Given the description of an element on the screen output the (x, y) to click on. 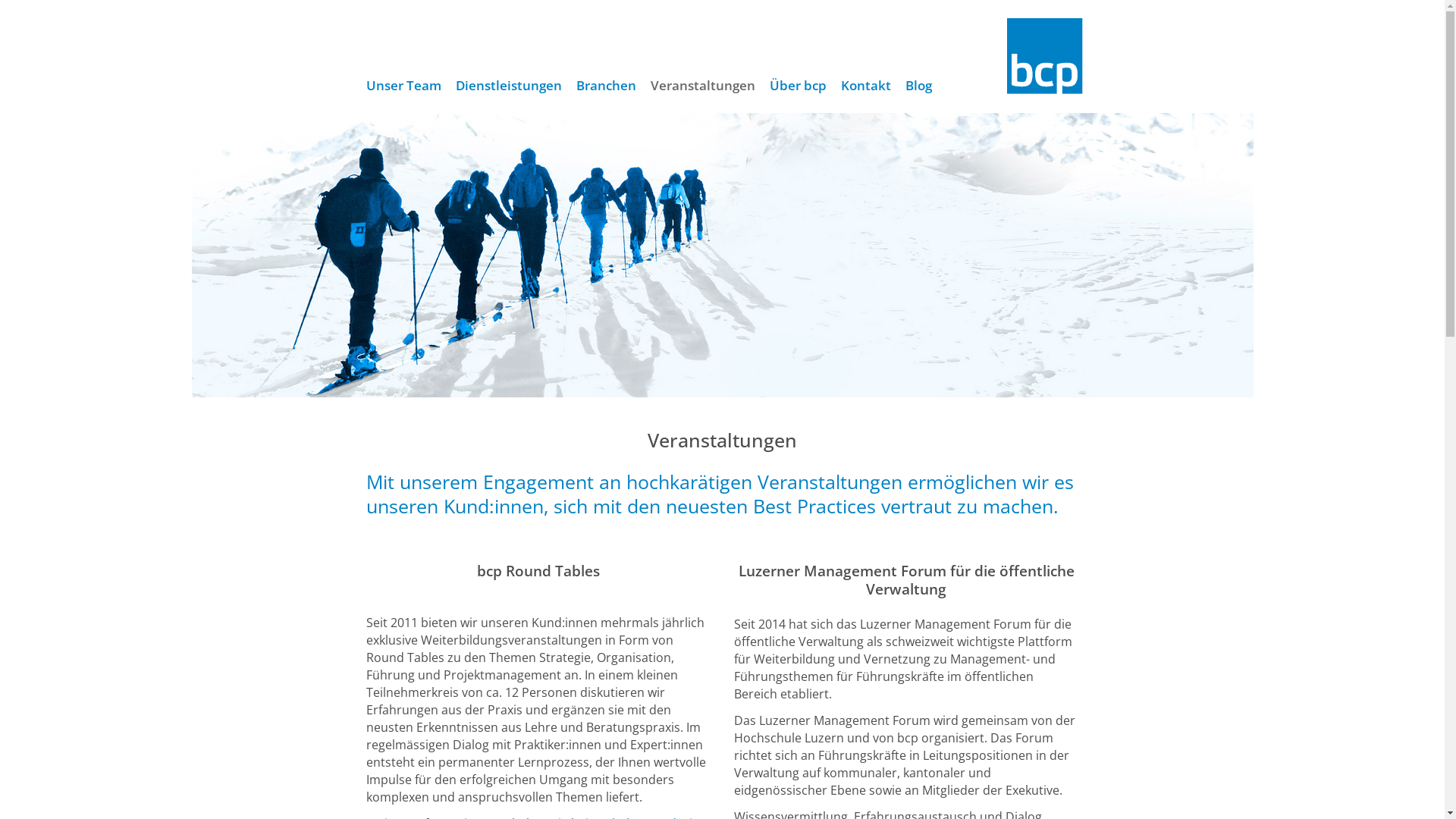
Dienstleistungen Element type: text (508, 85)
Unser Team Element type: text (403, 85)
Kontakt Element type: text (865, 85)
Branchen Element type: text (605, 85)
Veranstaltungen Element type: text (702, 85)
Blog Element type: text (917, 85)
